Given the description of an element on the screen output the (x, y) to click on. 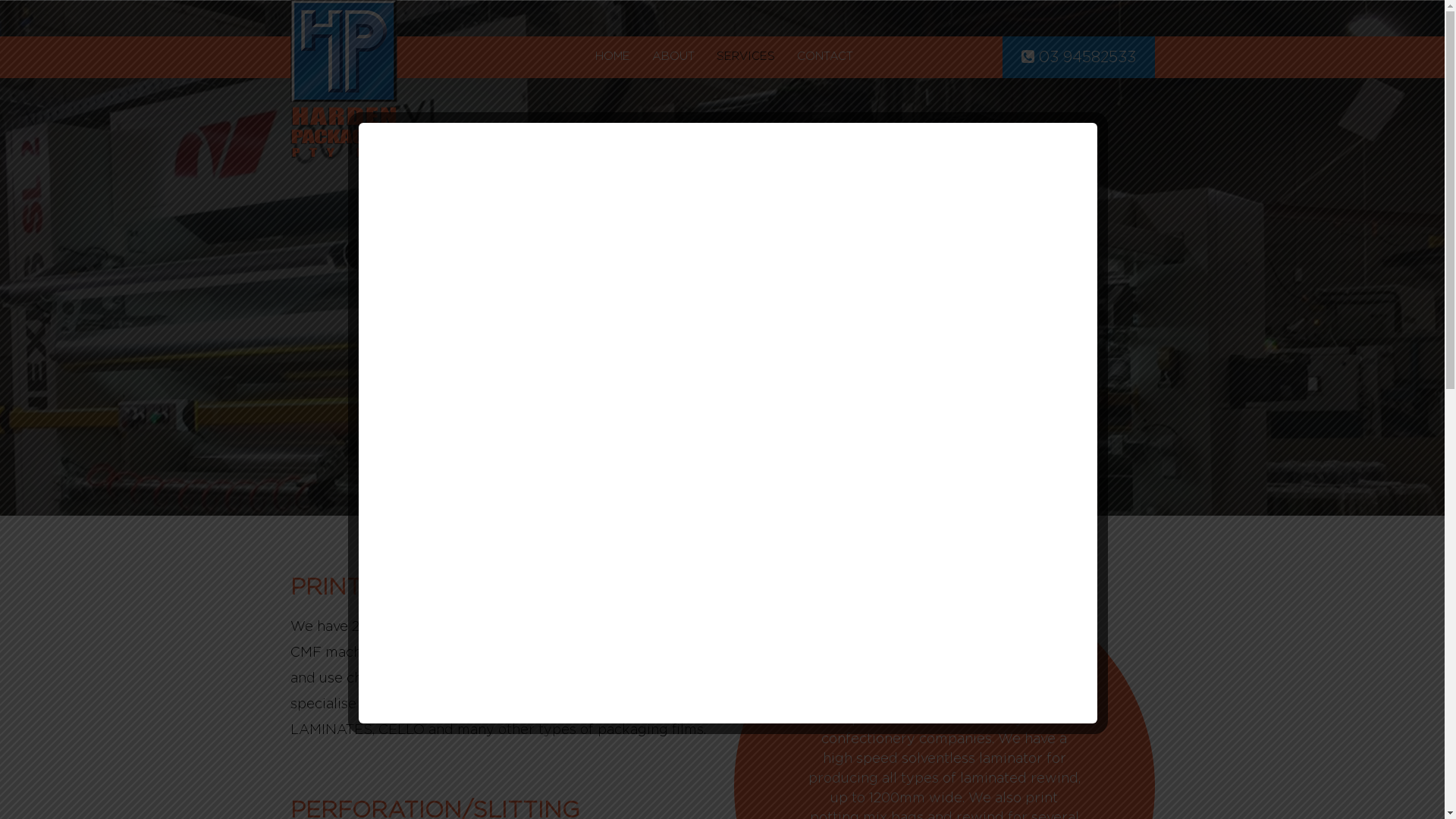
Logo Element type: hover (342, 78)
03 94582533 Element type: text (1078, 57)
SERVICES Element type: text (744, 56)
ABOUT Element type: text (673, 56)
HOME Element type: text (611, 56)
CONTACT Element type: text (824, 56)
YouTube video player Element type: hover (728, 398)
Image Element type: hover (722, 257)
